Given the description of an element on the screen output the (x, y) to click on. 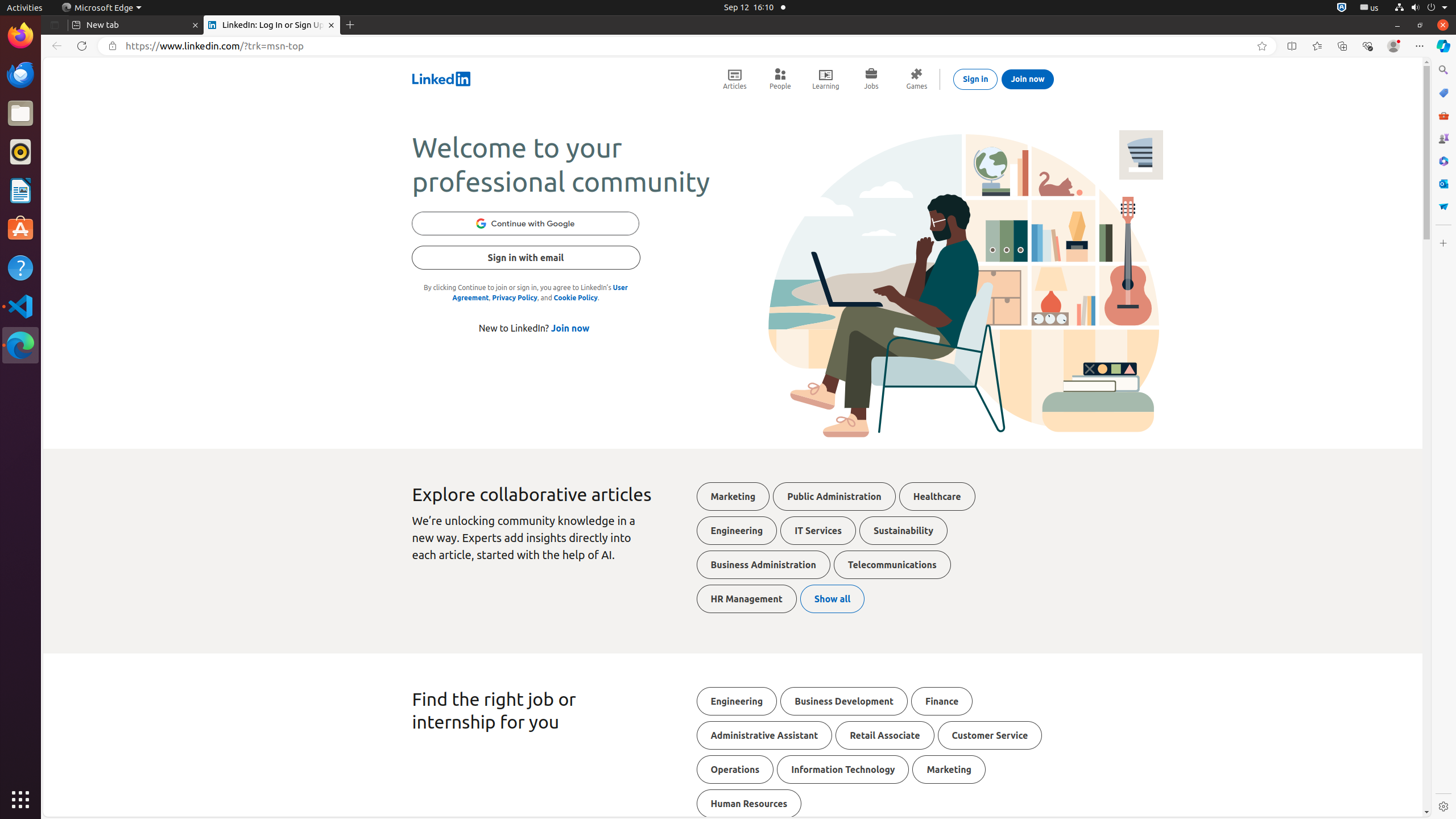
Show Applications Element type: toggle-button (20, 799)
Split screen Element type: push-button (1291, 45)
People Element type: link (779, 78)
Games Element type: link (916, 78)
Firefox Web Browser Element type: push-button (20, 35)
